Given the description of an element on the screen output the (x, y) to click on. 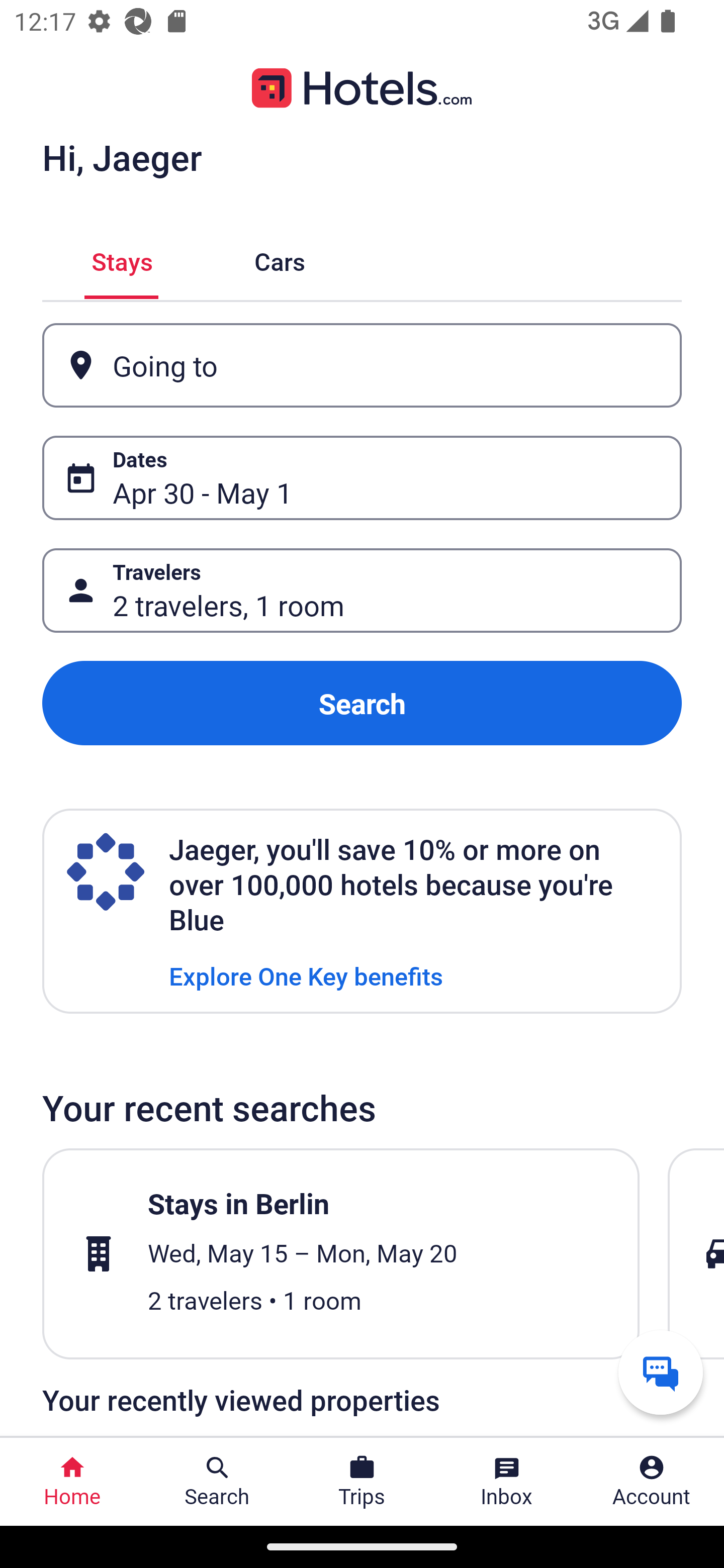
Hi, Jaeger (121, 156)
Cars (279, 259)
Going to Button (361, 365)
Dates Button Apr 30 - May 1 (361, 477)
Travelers Button 2 travelers, 1 room (361, 590)
Search (361, 702)
Get help from a virtual agent (660, 1371)
Search Search Button (216, 1481)
Trips Trips Button (361, 1481)
Inbox Inbox Button (506, 1481)
Account Profile. Button (651, 1481)
